Given the description of an element on the screen output the (x, y) to click on. 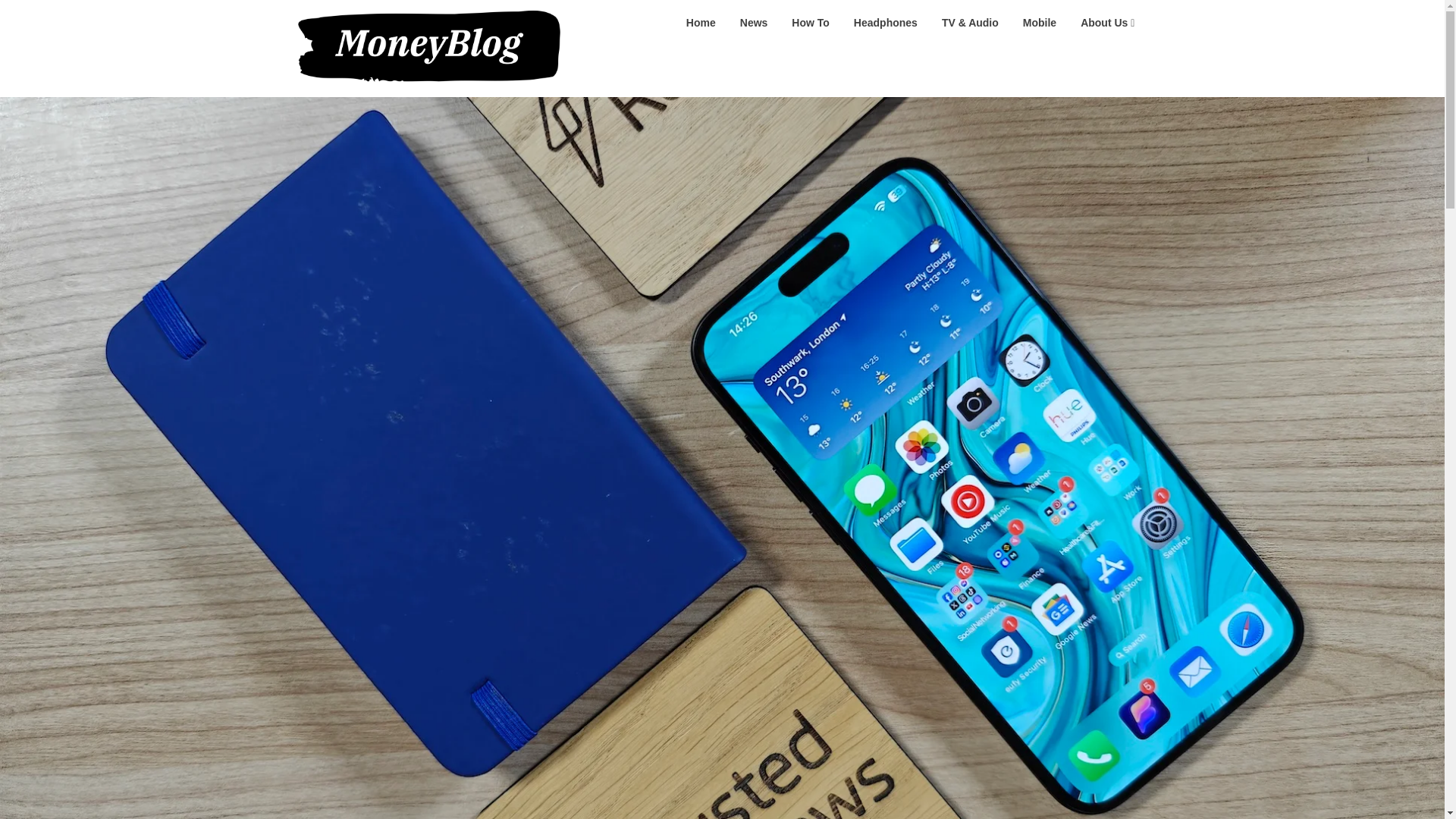
Mobile (1039, 22)
Headphones (885, 22)
About Us (1107, 22)
Home (701, 22)
queenstown.my.id (641, 21)
How To (809, 22)
News (754, 22)
